Given the description of an element on the screen output the (x, y) to click on. 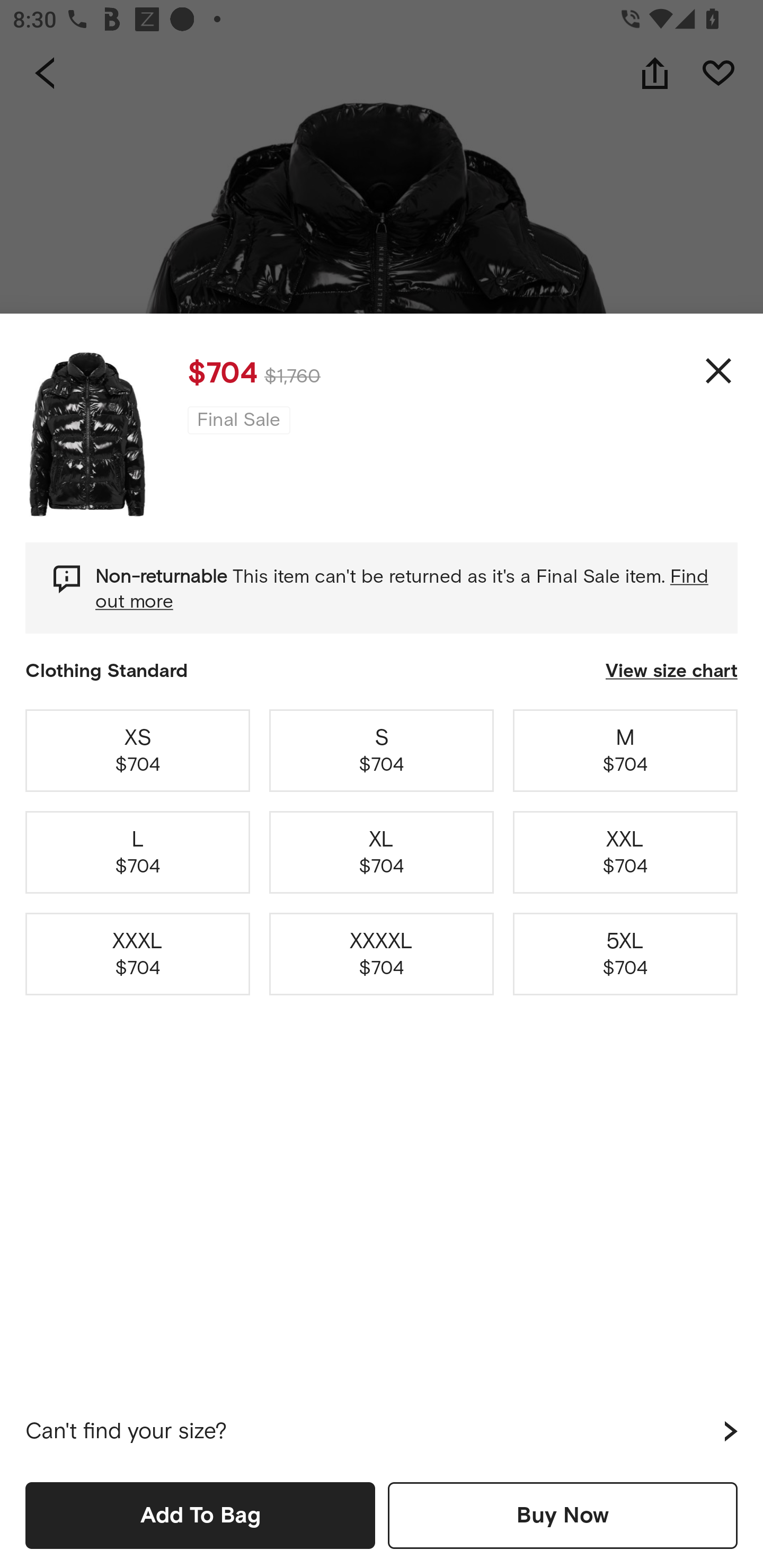
XS $704 (137, 749)
S $704 (381, 749)
M $704 (624, 749)
L $704 (137, 851)
XL $704 (381, 851)
XXL $704 (624, 851)
XXXL $704 (137, 953)
XXXXL $704 (381, 953)
5XL $704 (624, 953)
Can't find your size? (381, 1431)
Add To Bag (200, 1515)
Buy Now (562, 1515)
